Given the description of an element on the screen output the (x, y) to click on. 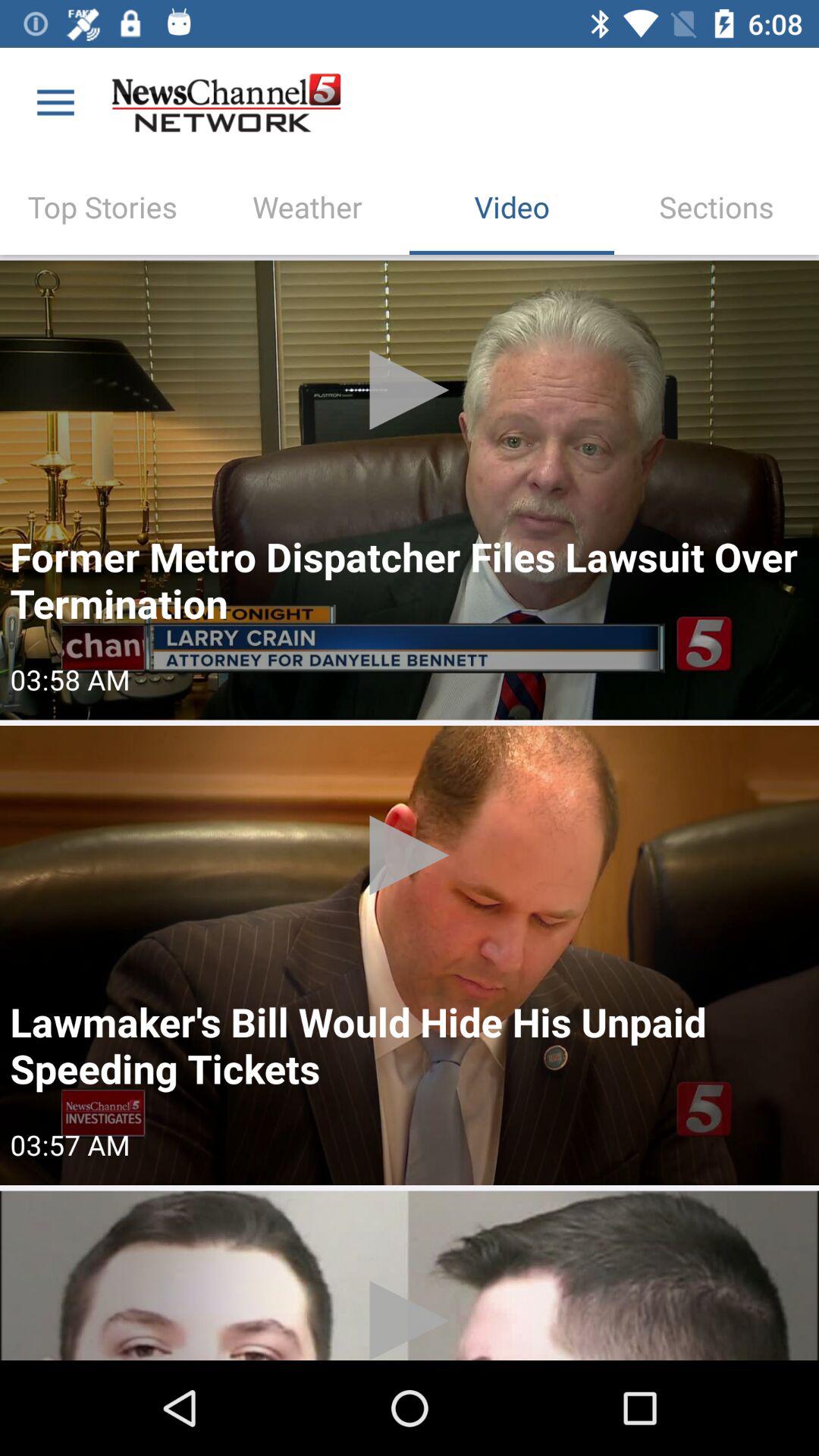
choose article (409, 1275)
